Given the description of an element on the screen output the (x, y) to click on. 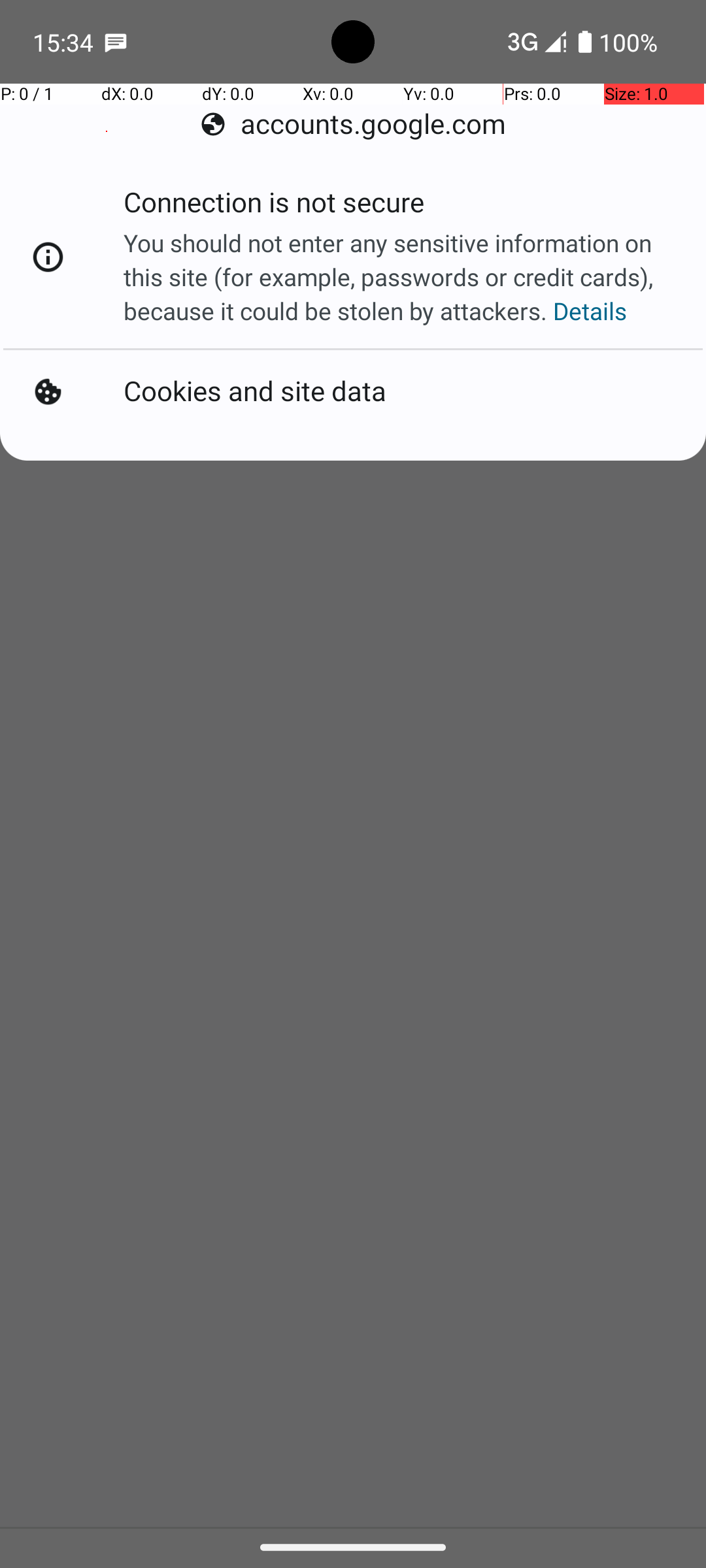
accounts.google.com Element type: android.widget.TextView (352, 124)
Connection is not secure Element type: android.widget.TextView (273, 206)
You should not enter any sensitive information on this site (for example, passwords or credit cards), because it could be stolen by attackers. Details Element type: android.widget.TextView (400, 276)
Cookies and site data Element type: android.widget.TextView (254, 391)
